Given the description of an element on the screen output the (x, y) to click on. 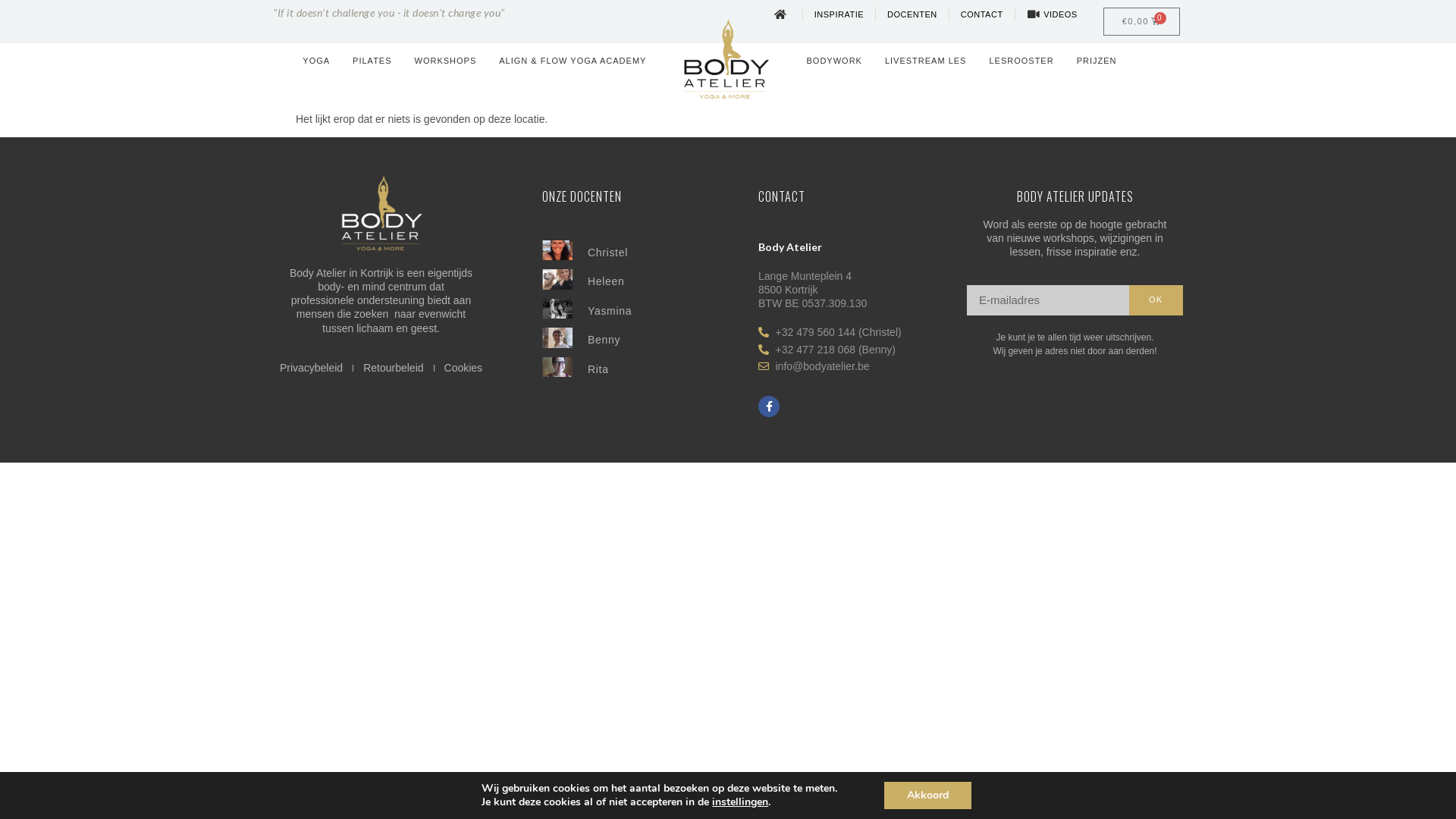
+32 479 560 144 (Christel) Element type: text (854, 331)
BODYWORK Element type: text (834, 60)
ALIGN & FLOW YOGA ACADEMY Element type: text (572, 60)
Christel Element type: text (607, 252)
Heleen Element type: text (605, 281)
PRIJZEN Element type: text (1096, 60)
Privacybeleid Element type: text (310, 367)
Rita Element type: text (597, 369)
Retourbeleid Element type: text (393, 367)
LIVESTREAM LES Element type: text (925, 60)
WORKSHOPS Element type: text (445, 60)
CONTACT Element type: text (981, 14)
INSPIRATIE Element type: text (838, 14)
DOCENTEN Element type: text (912, 14)
VIDEOS Element type: text (1051, 14)
Cookies Element type: text (463, 367)
OK Element type: text (1156, 300)
info@bodyatelier.be Element type: text (854, 366)
Yasmina Element type: text (609, 310)
instellingen Element type: text (740, 802)
Benny Element type: text (603, 339)
+32 477 218 068 (Benny) Element type: text (854, 349)
Akkoord Element type: text (927, 795)
PILATES Element type: text (371, 60)
YOGA Element type: text (315, 60)
LESROOSTER Element type: text (1020, 60)
